Given the description of an element on the screen output the (x, y) to click on. 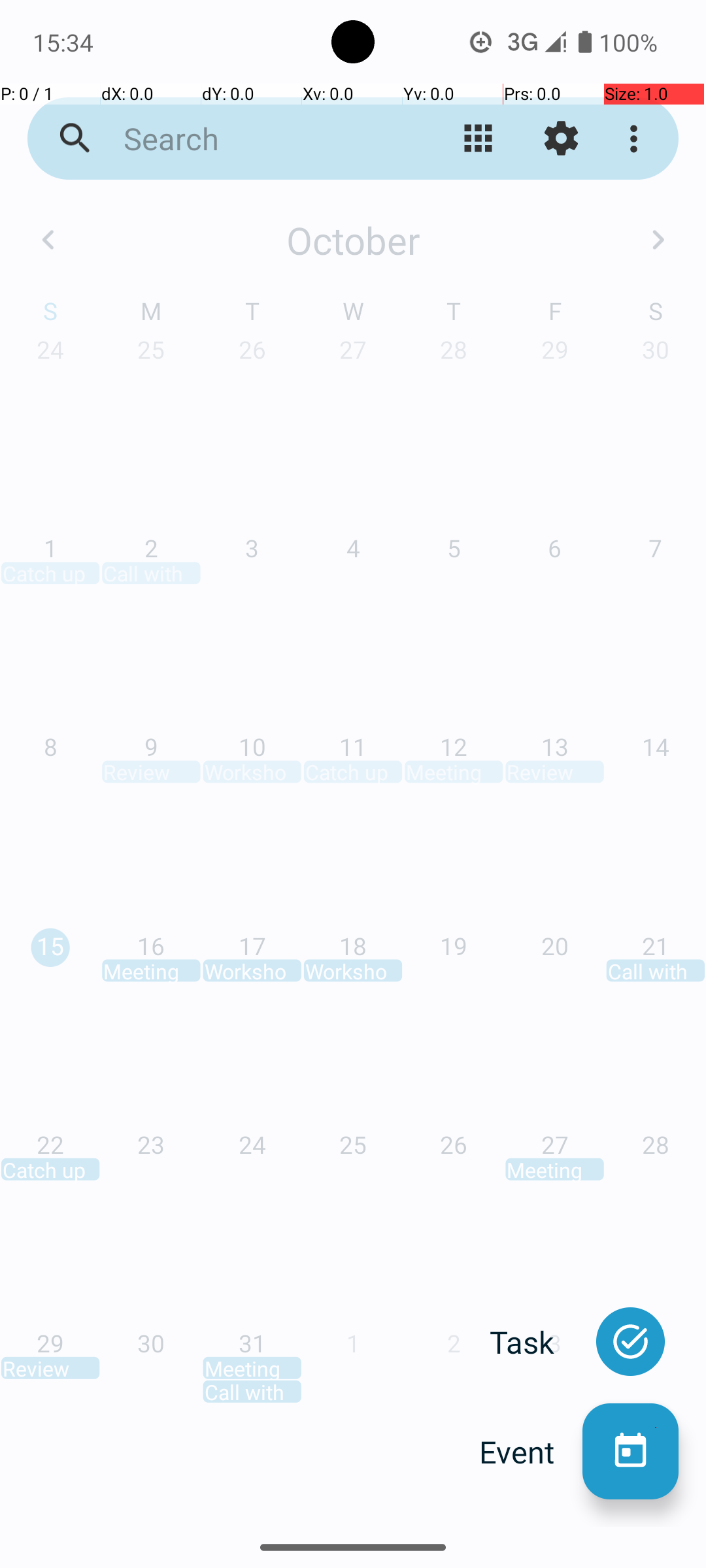
Task Element type: android.widget.TextView (535, 1341)
Event Element type: android.widget.TextView (530, 1451)
